Given the description of an element on the screen output the (x, y) to click on. 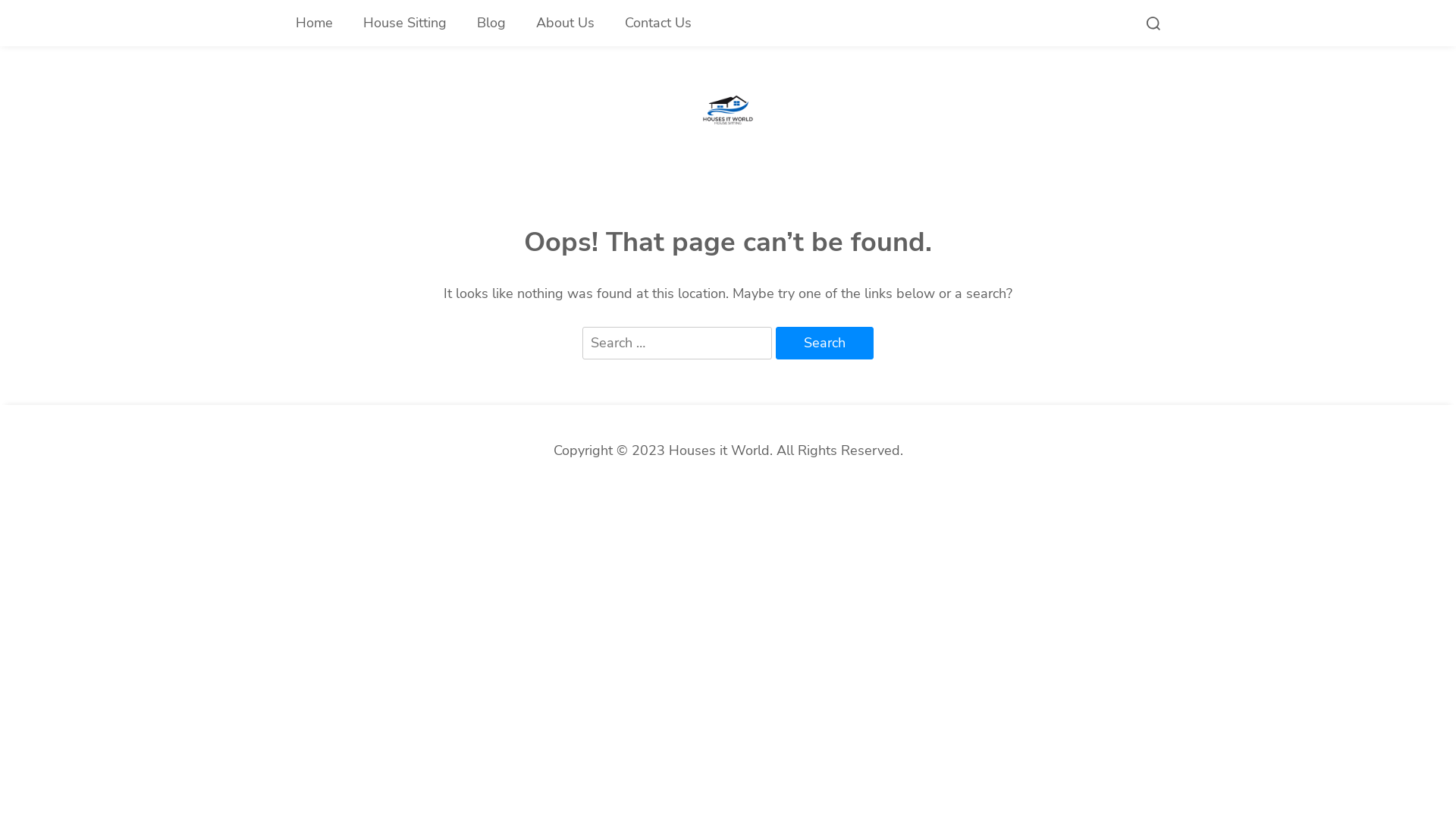
Home Element type: text (314, 23)
House Sitting Element type: text (404, 23)
Blog Element type: text (490, 23)
About Us Element type: text (564, 23)
Search Element type: text (824, 343)
Contact Us Element type: text (657, 23)
